Given the description of an element on the screen output the (x, y) to click on. 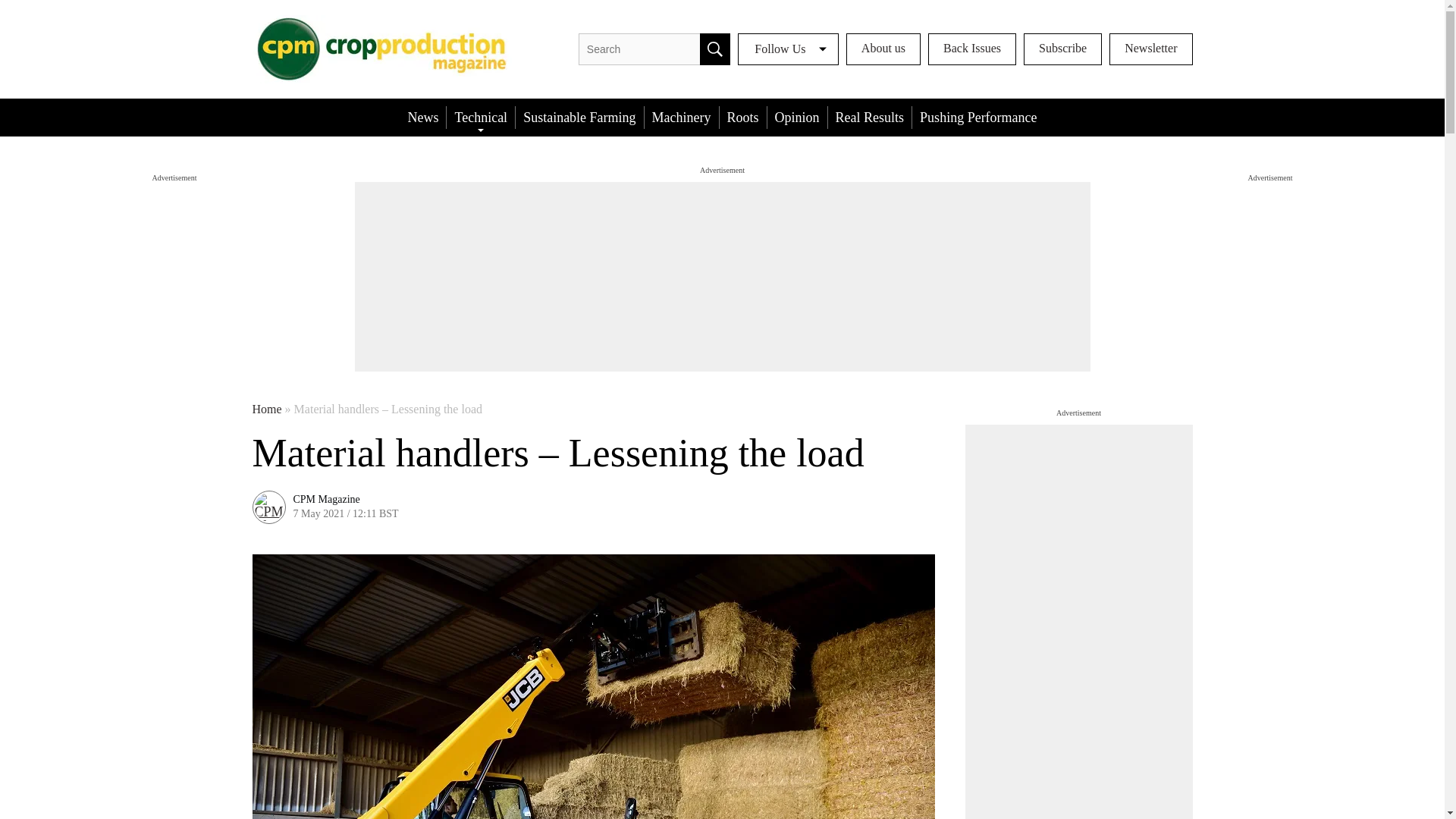
Sustainable Farming (579, 117)
Search (715, 49)
News (421, 117)
Opinion (797, 117)
Roots (743, 117)
Back Issues (972, 49)
CPM Magazine (325, 499)
Newsletter (1150, 49)
About us (882, 49)
Pushing Performance (977, 117)
Technical (480, 117)
Subscribe (1062, 49)
Home (266, 409)
Follow Us (788, 49)
